Given the description of an element on the screen output the (x, y) to click on. 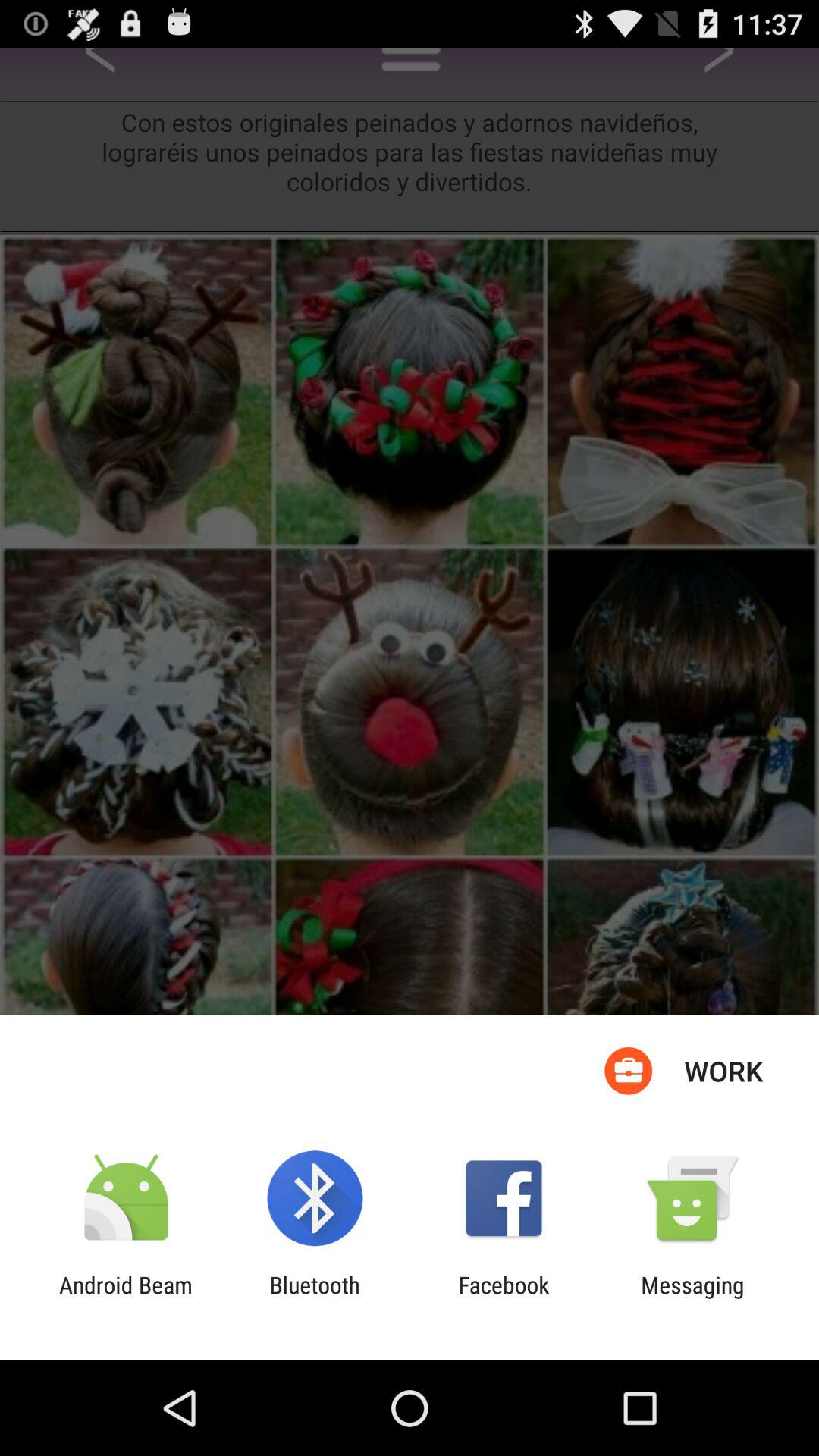
launch android beam icon (125, 1298)
